Given the description of an element on the screen output the (x, y) to click on. 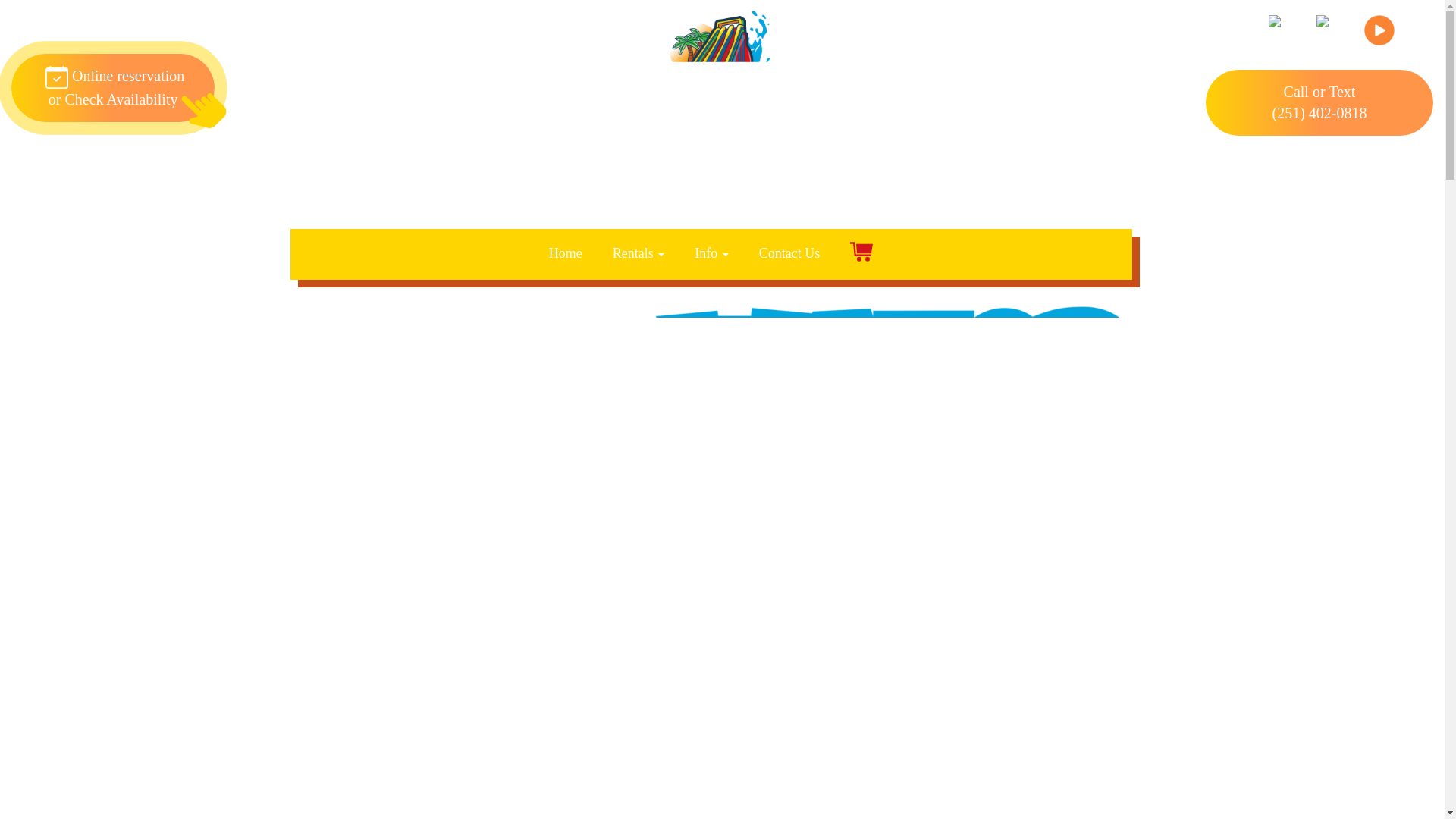
South Alabama Inflatables on Instagram (1331, 38)
See Your Cart (861, 253)
South Alabama Inflatables Logo (710, 64)
Contact Us (789, 253)
inventory search button (1051, 201)
South Alabama Inflatables on Youtube (1379, 38)
Home (565, 253)
South Alabama Inflatables on Facebook (112, 88)
Rentals (1283, 38)
Info (638, 253)
